Given the description of an element on the screen output the (x, y) to click on. 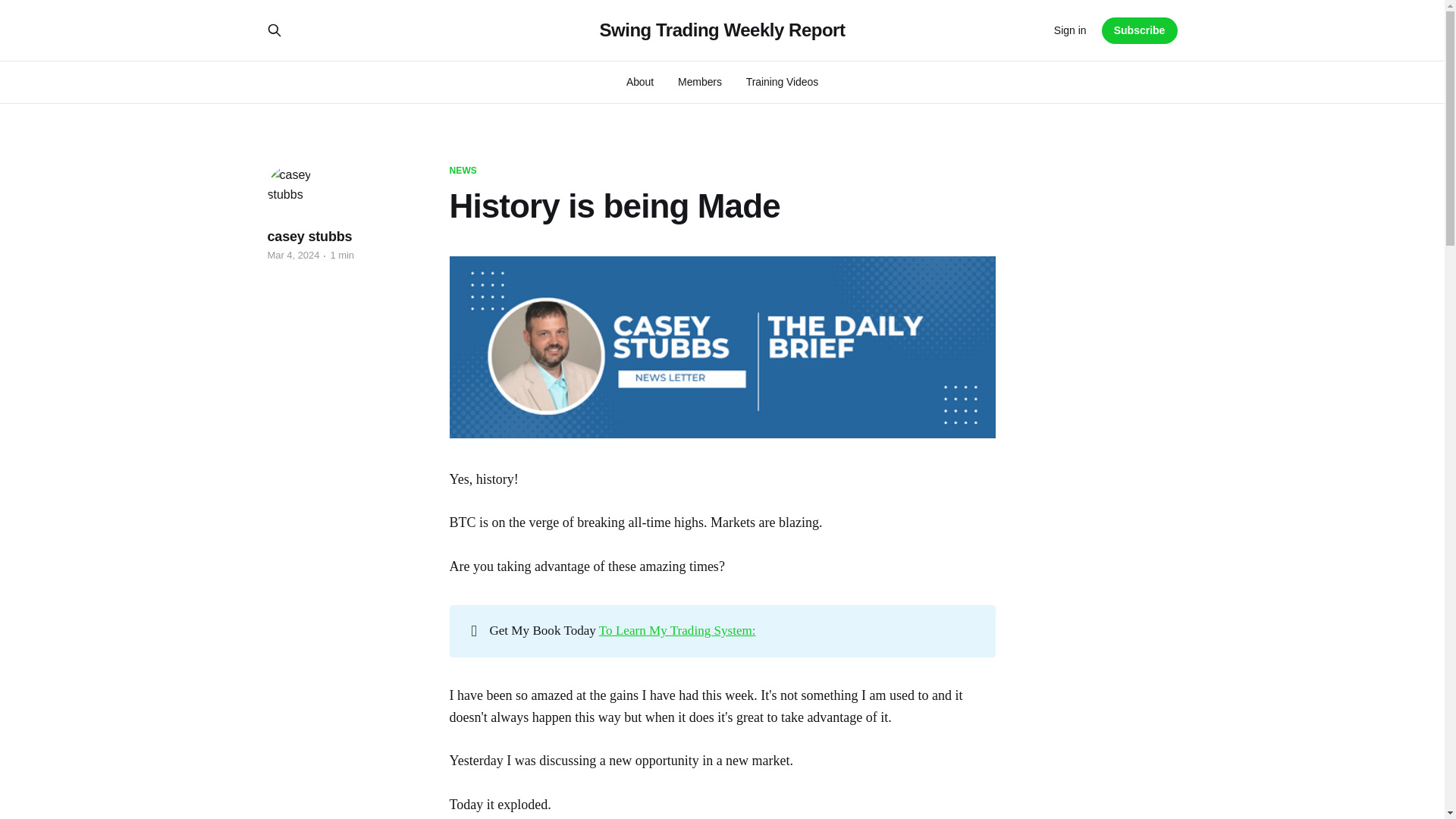
Sign in (1070, 30)
NEWS (462, 170)
casey stubbs (309, 236)
Training Videos (781, 81)
Swing Trading Weekly Report (721, 30)
Subscribe (1139, 29)
About (639, 81)
To Learn My Trading System: (676, 630)
Members (700, 81)
